Given the description of an element on the screen output the (x, y) to click on. 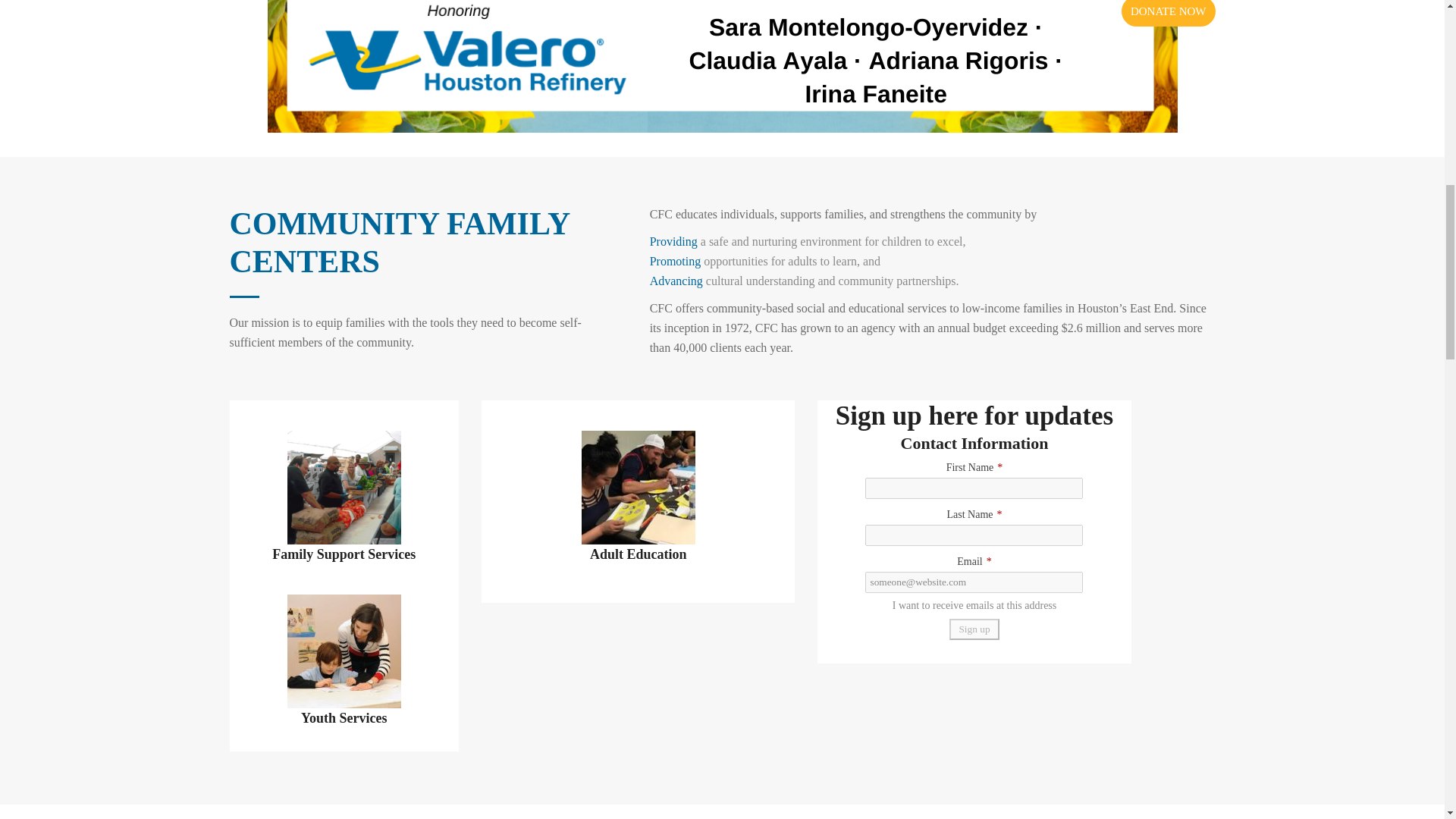
C-4-min (343, 487)
1-min (637, 487)
Sign up (973, 629)
